Given the description of an element on the screen output the (x, y) to click on. 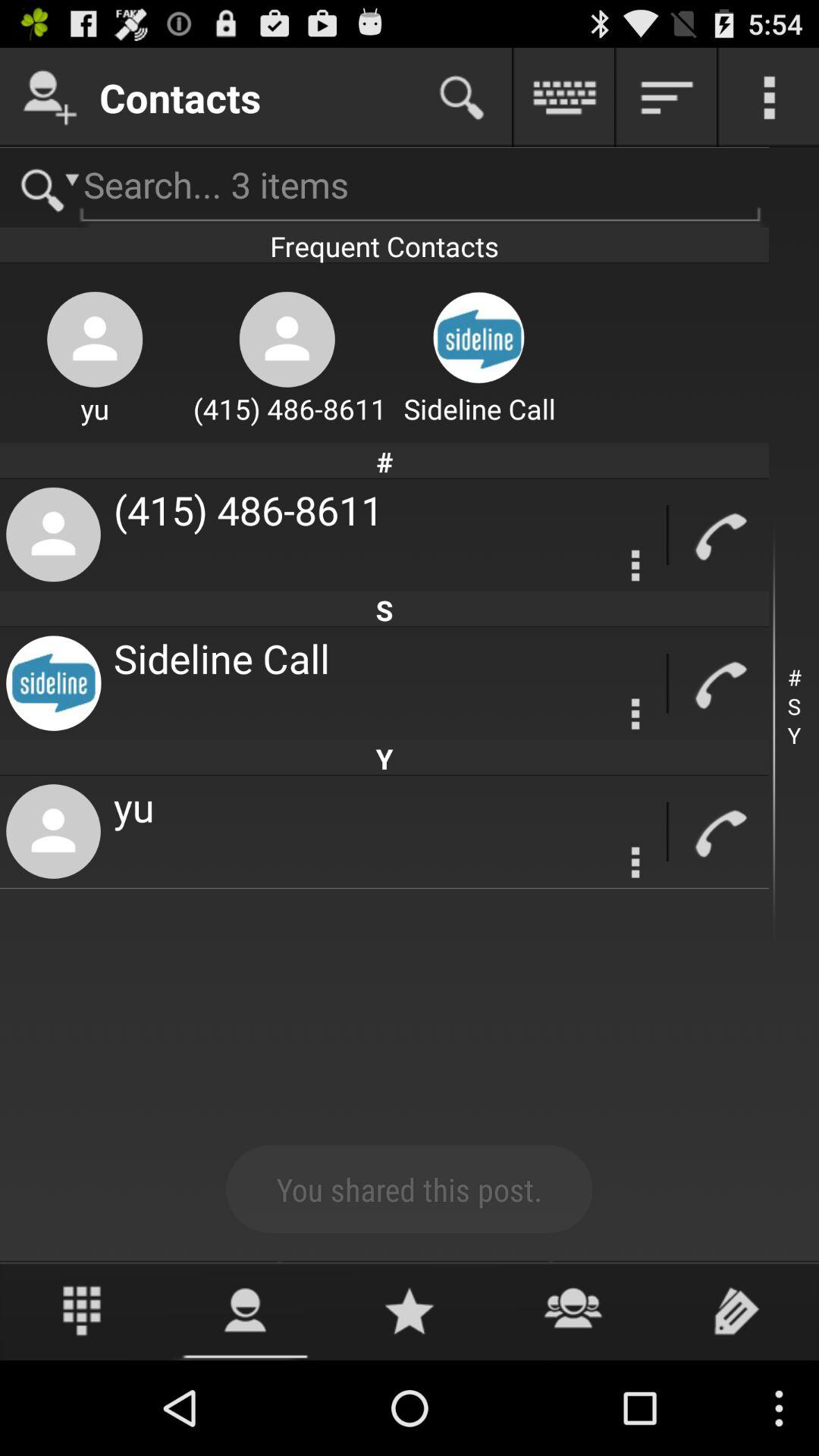
more information on contact (635, 862)
